Given the description of an element on the screen output the (x, y) to click on. 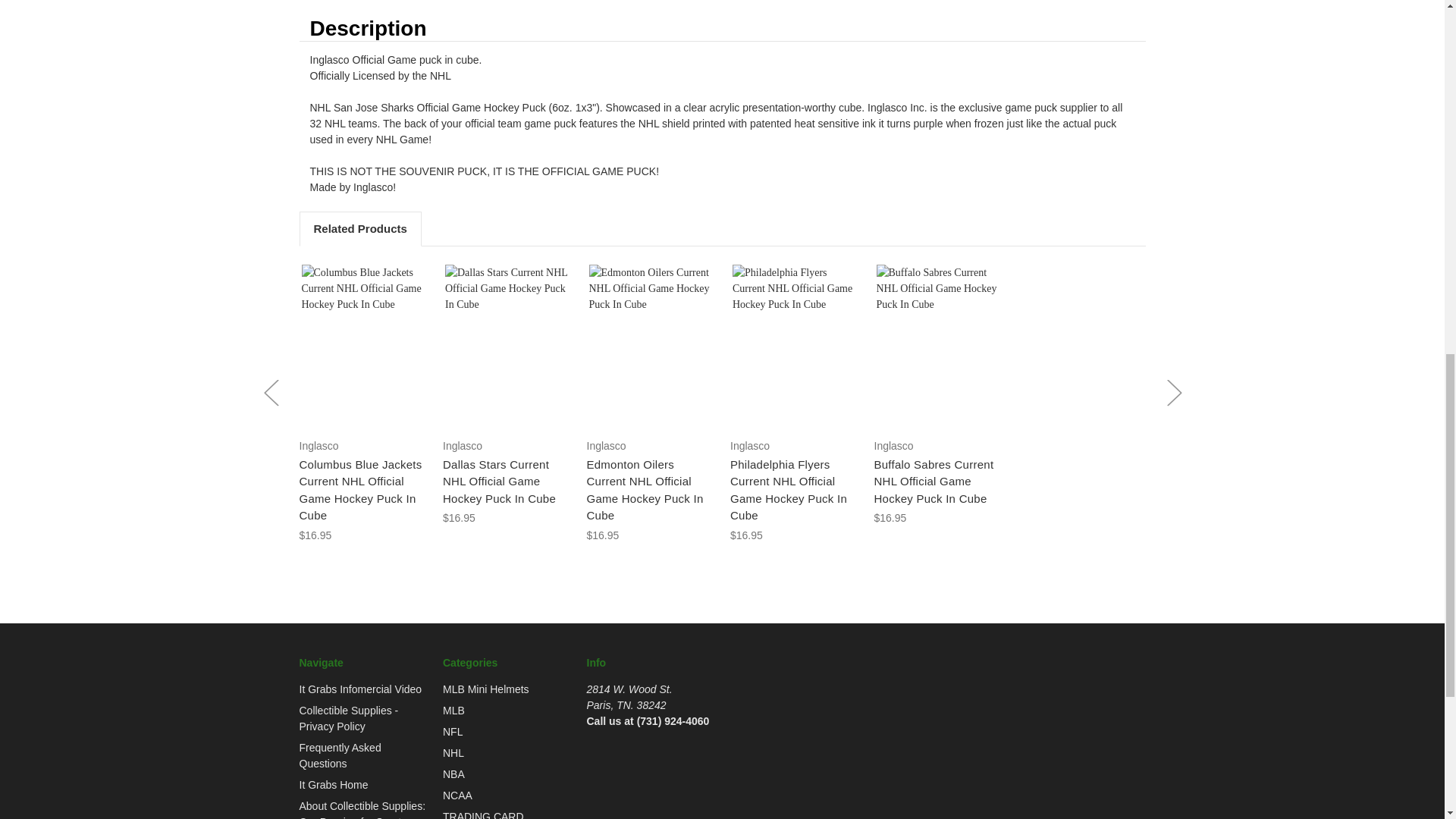
Dallas Stars Current NHL Official Game Hockey Puck In Cube (507, 345)
